Given the description of an element on the screen output the (x, y) to click on. 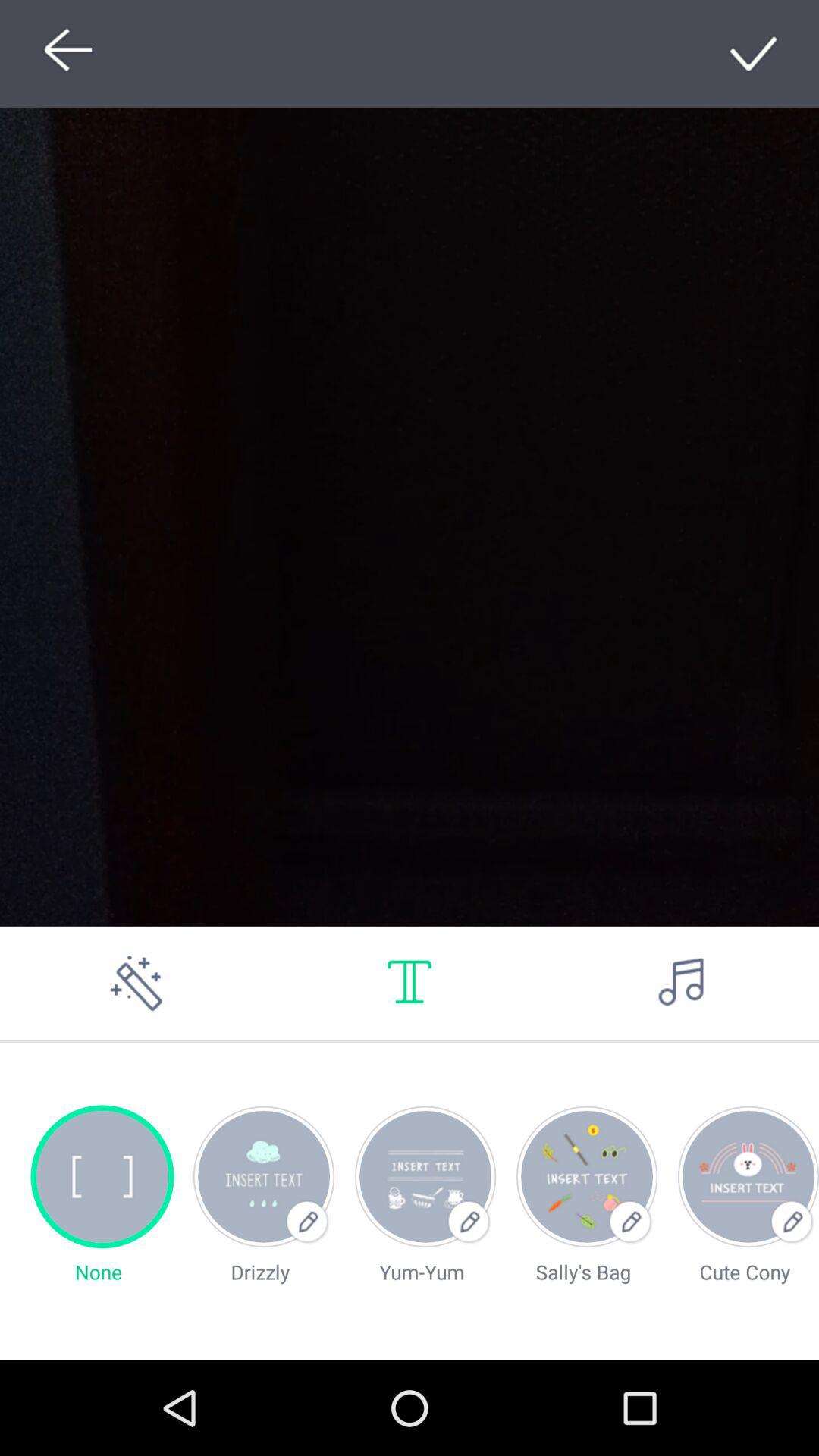
go to previous (63, 53)
